Given the description of an element on the screen output the (x, y) to click on. 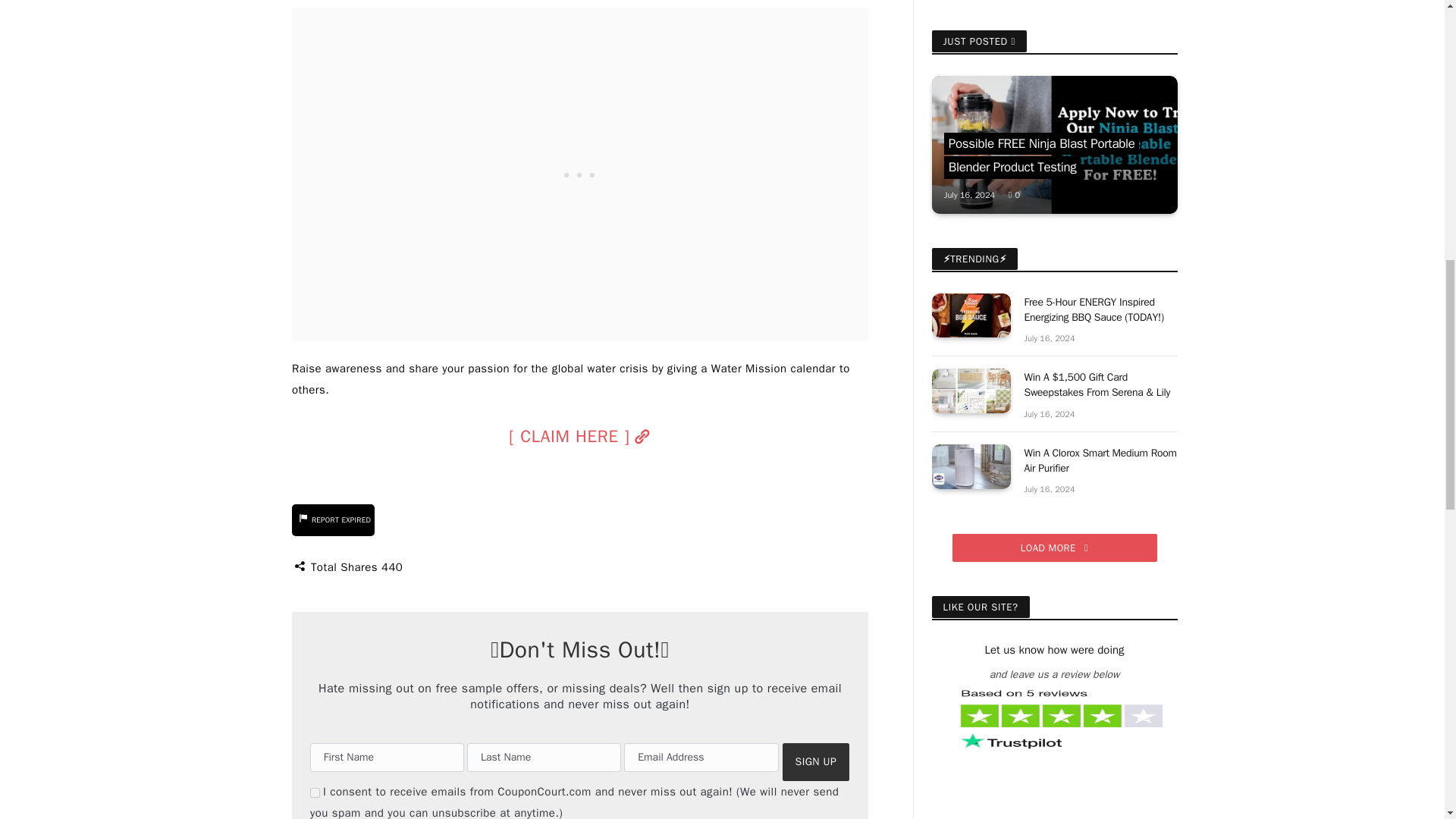
1 (315, 792)
SIGN UP (815, 762)
